Given the description of an element on the screen output the (x, y) to click on. 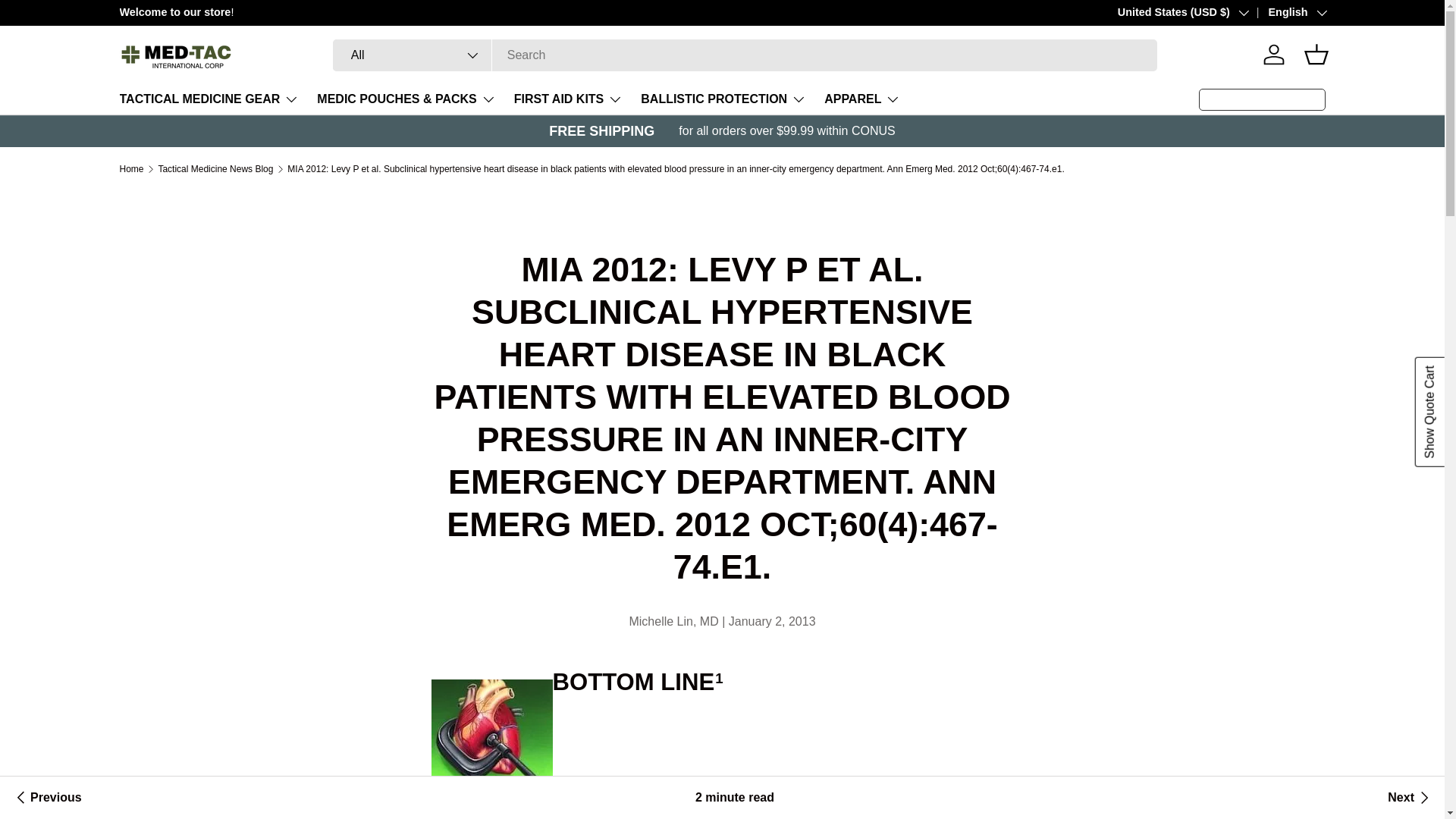
Log in (1273, 54)
Basket (1316, 54)
All (412, 55)
Skip to content (68, 21)
English (1285, 12)
TACTICAL MEDICINE GEAR (209, 99)
